Given the description of an element on the screen output the (x, y) to click on. 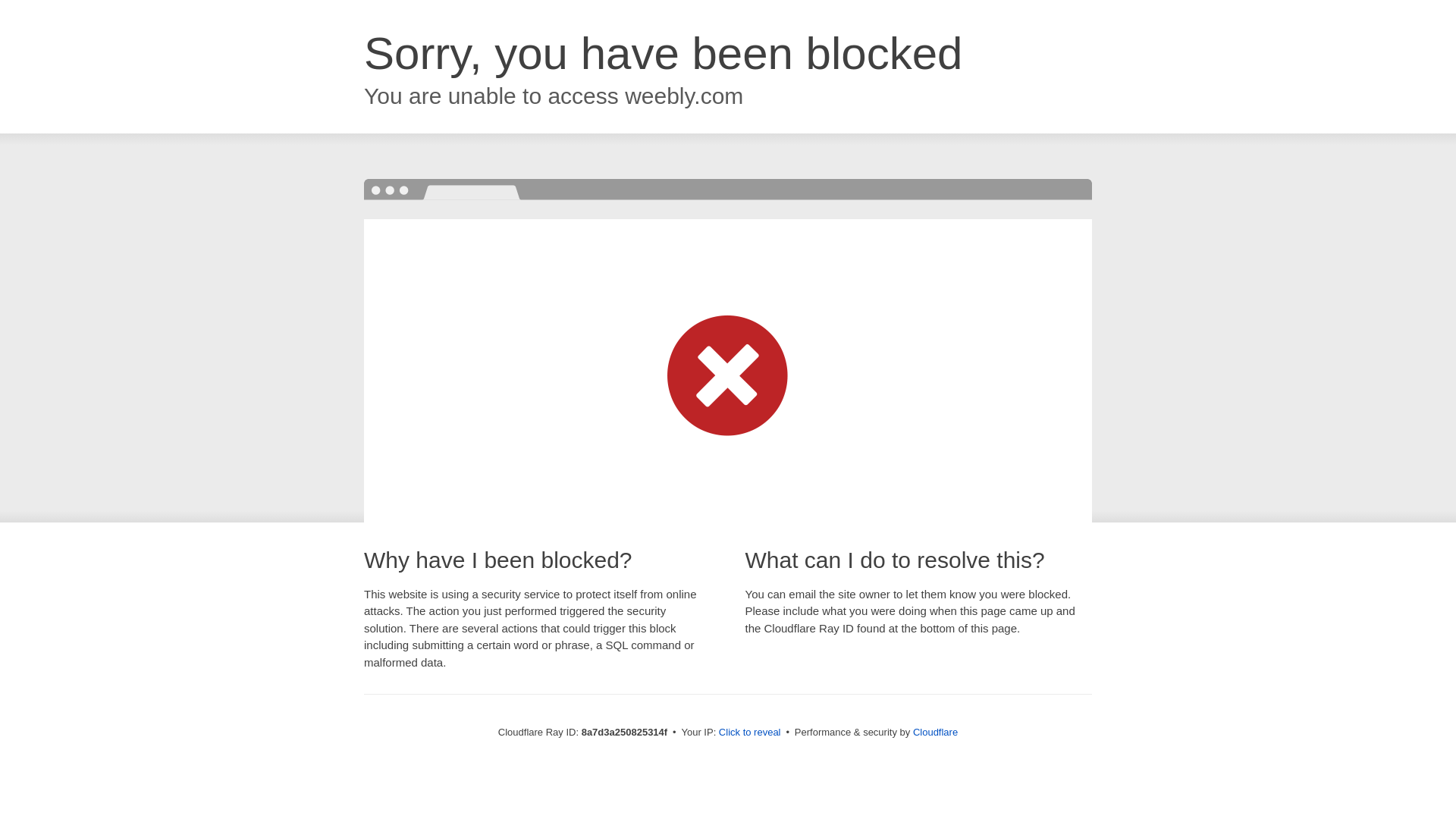
Click to reveal (749, 732)
Cloudflare (935, 731)
